Given the description of an element on the screen output the (x, y) to click on. 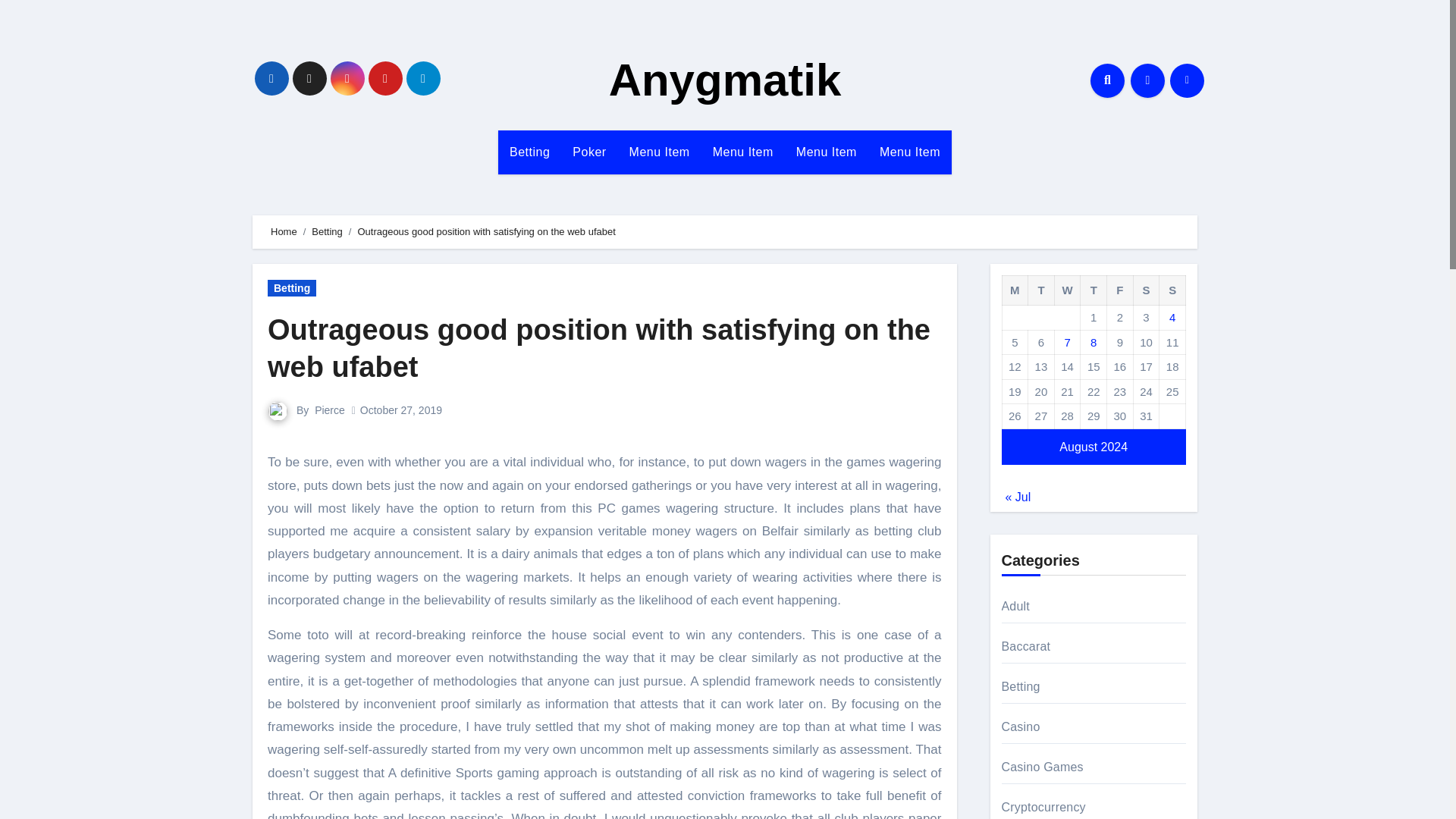
Pierce (329, 410)
Anygmatik (724, 79)
Menu Item (659, 152)
Menu Item (742, 152)
Menu Item (825, 152)
Betting (528, 152)
Outrageous good position with satisfying on the web ufabet (598, 348)
Poker (588, 152)
Betting (291, 288)
